Given the description of an element on the screen output the (x, y) to click on. 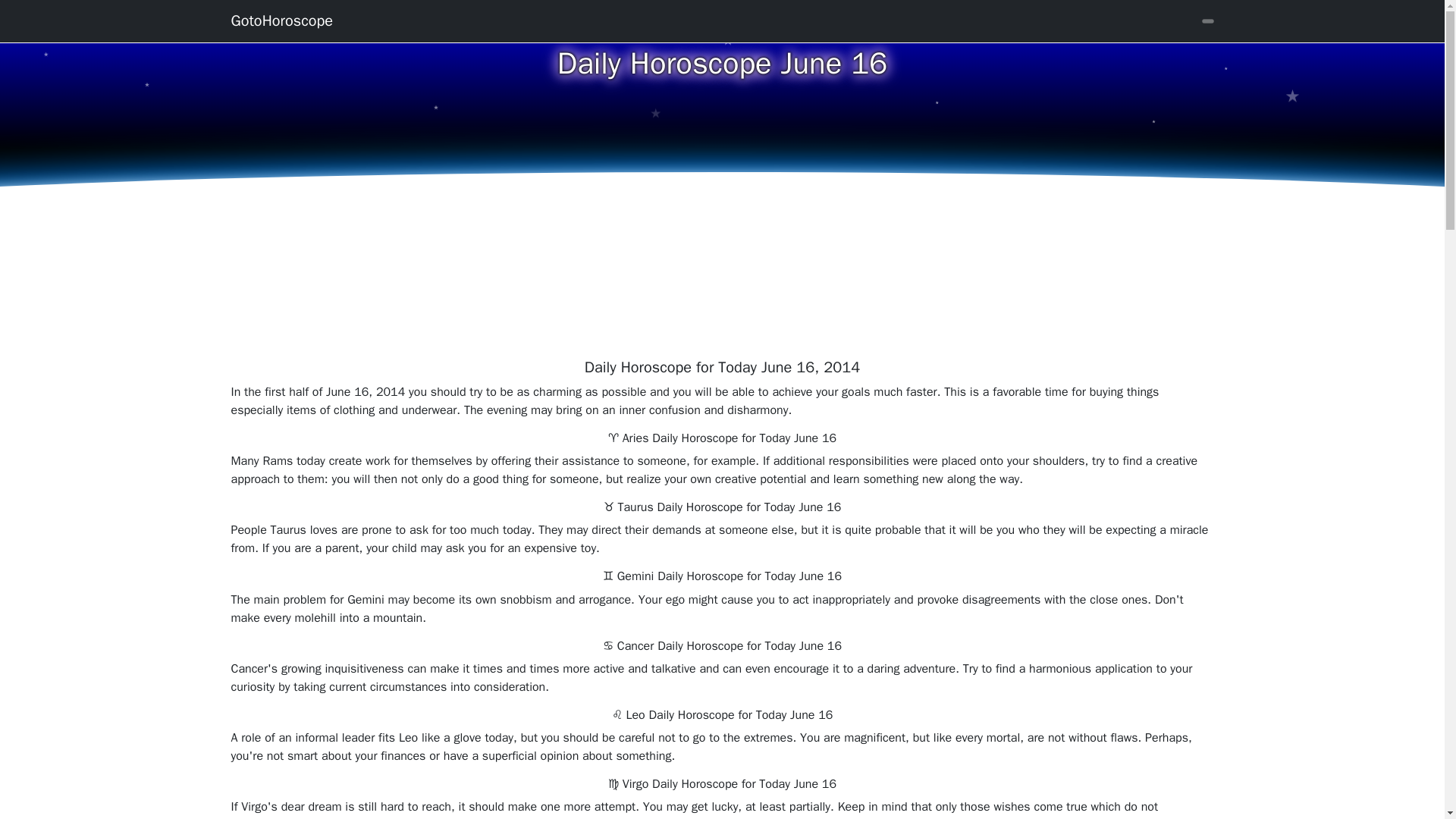
Goto Horoscope Home (281, 20)
GotoHoroscope (281, 20)
